Given the description of an element on the screen output the (x, y) to click on. 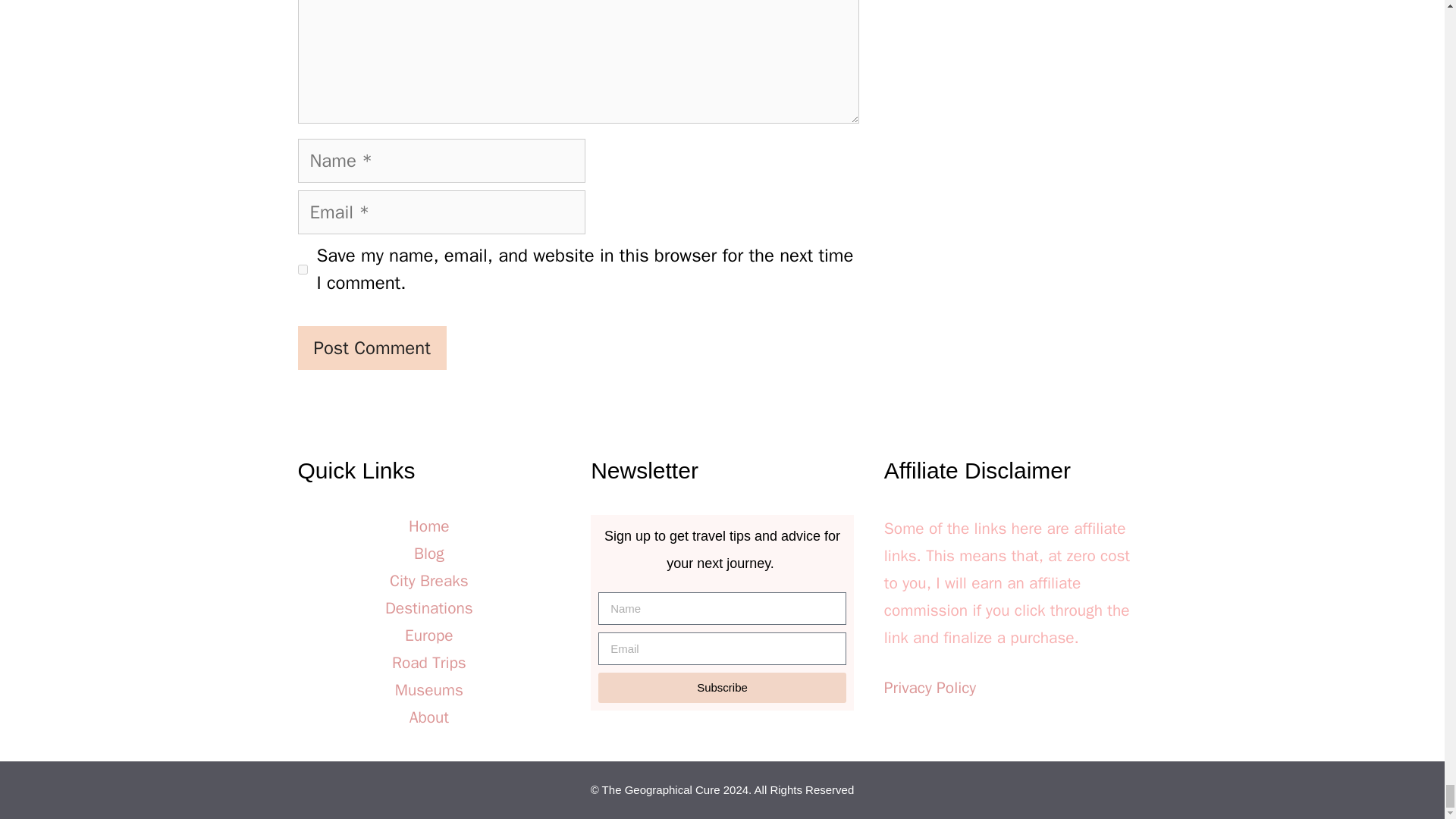
yes (302, 269)
Post Comment (371, 347)
